Given the description of an element on the screen output the (x, y) to click on. 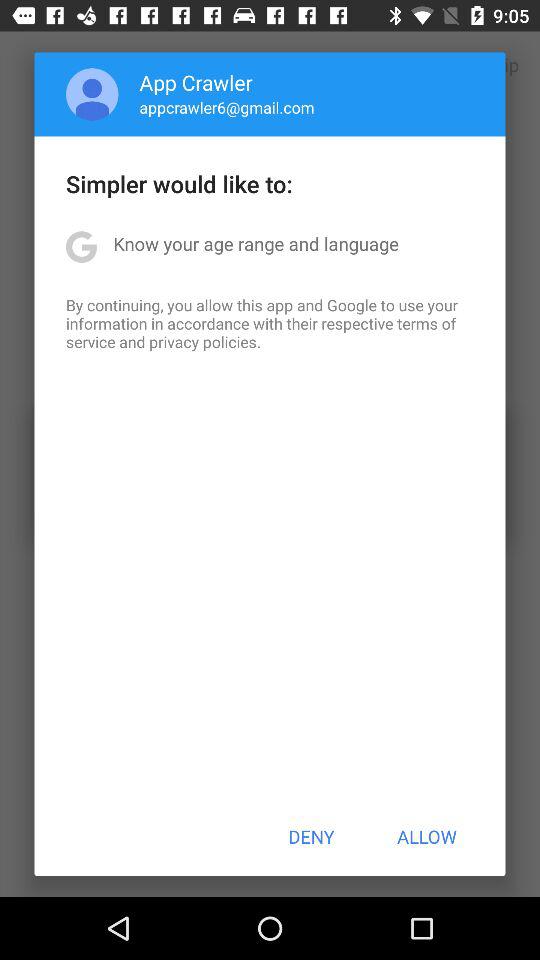
tap the appcrawler6@gmail.com app (226, 107)
